Given the description of an element on the screen output the (x, y) to click on. 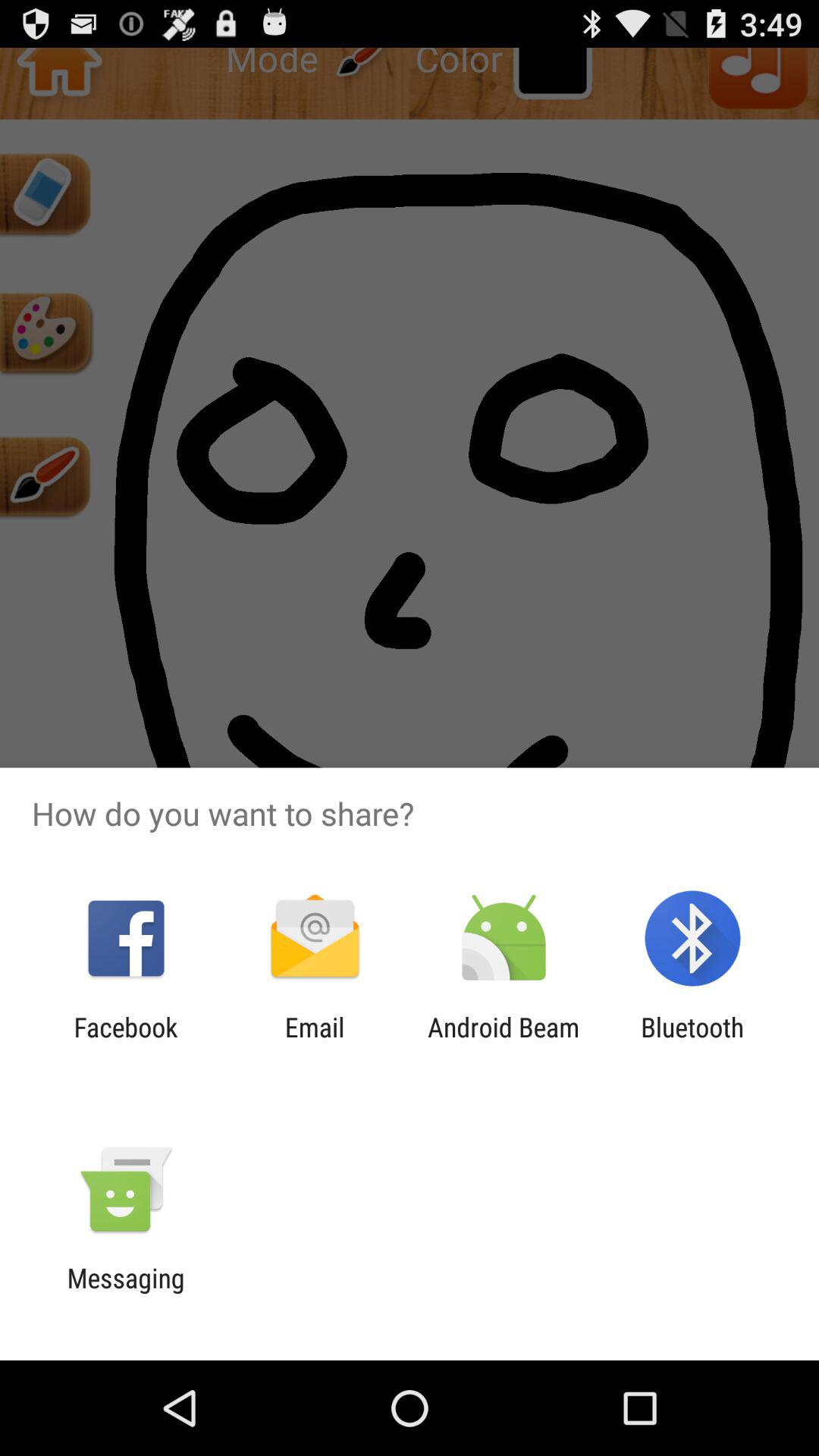
press the android beam app (503, 1042)
